Given the description of an element on the screen output the (x, y) to click on. 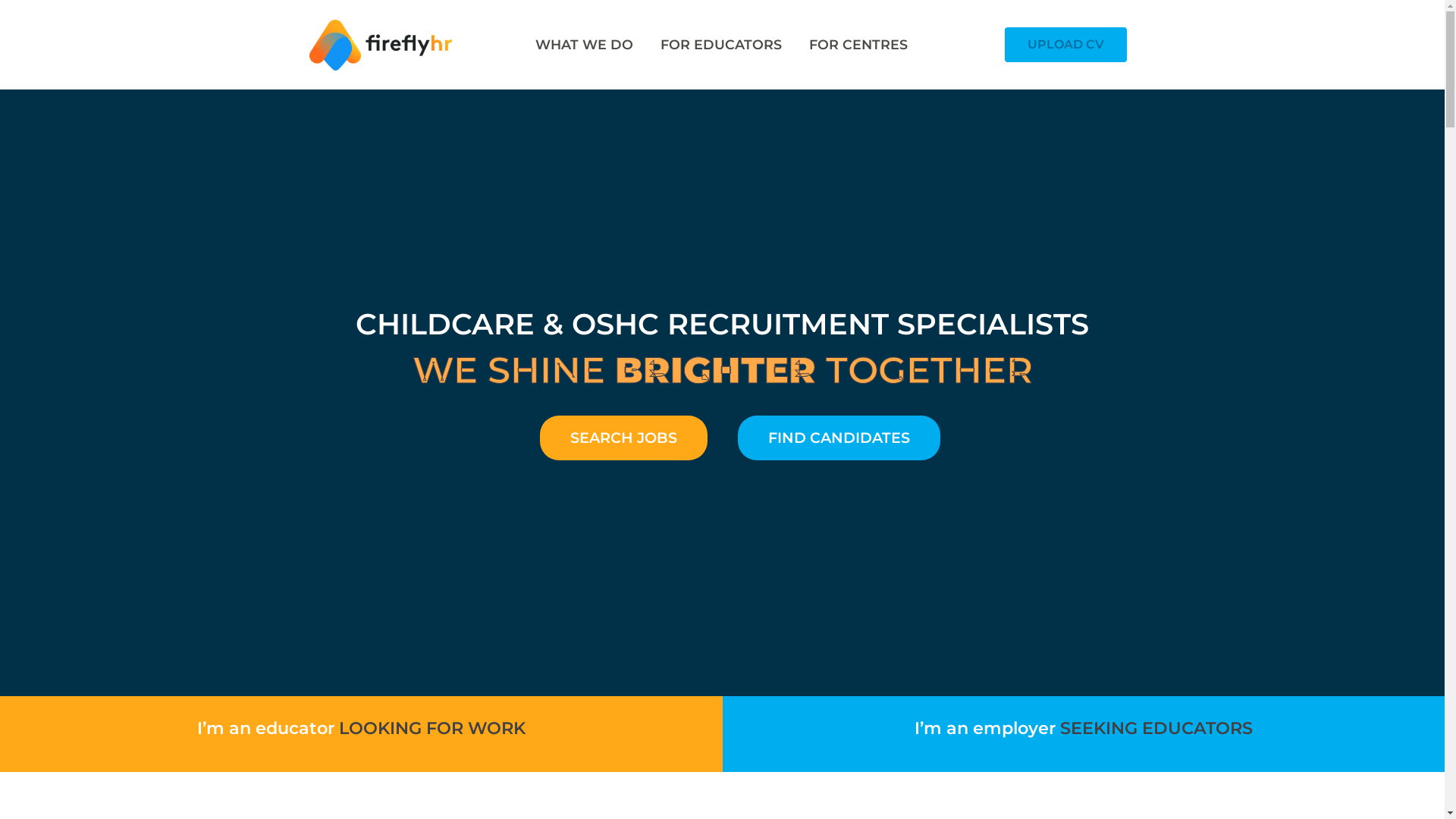
FIND CANDIDATES Element type: text (838, 437)
SEARCH JOBS Element type: text (623, 437)
UPLOAD CV Element type: text (1065, 44)
WHAT WE DO Element type: text (583, 44)
FOR EDUCATORS Element type: text (720, 44)
FOR CENTRES Element type: text (858, 44)
